Given the description of an element on the screen output the (x, y) to click on. 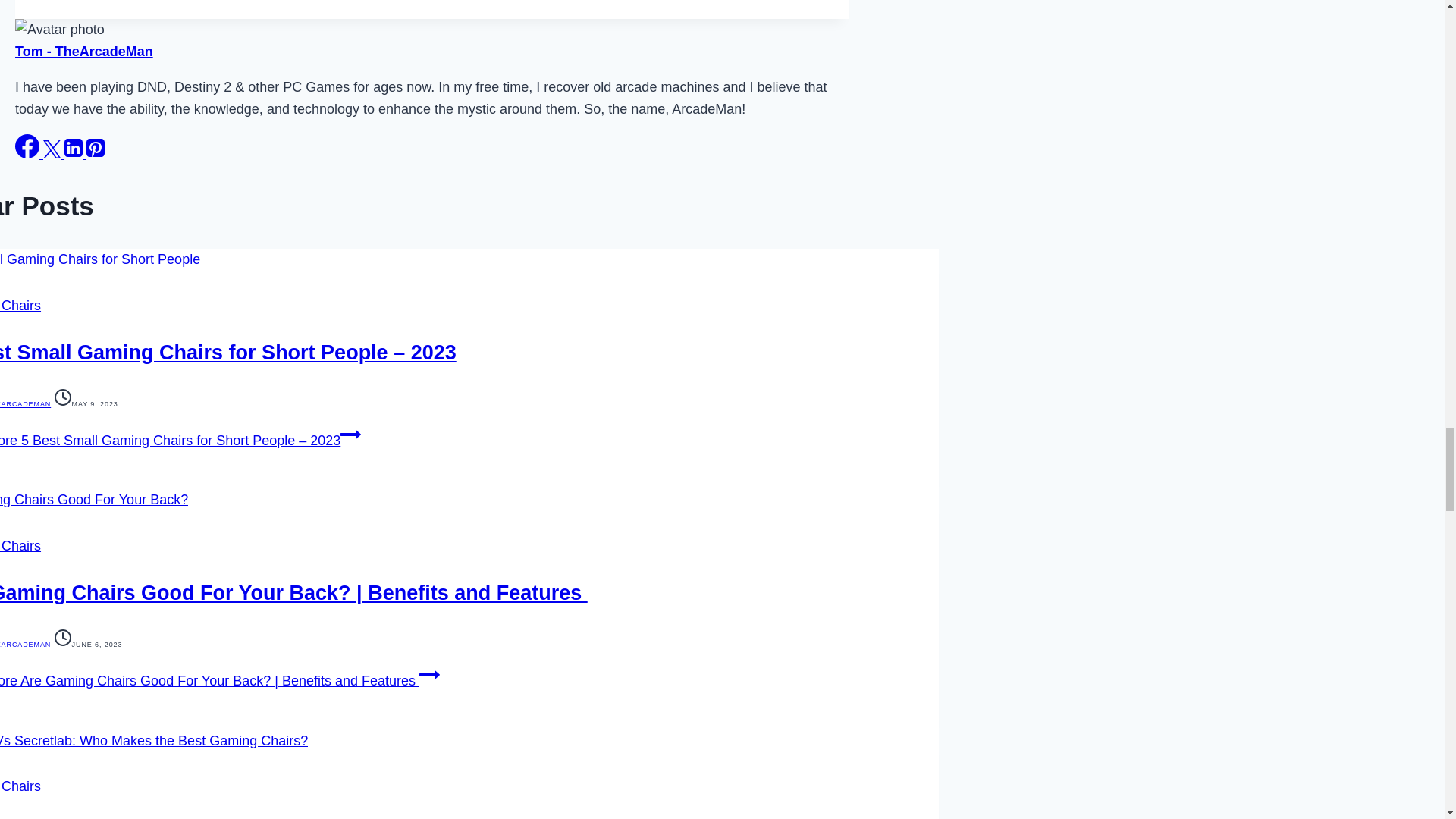
Facebook (26, 146)
Follow Tom - TheArcadeMan on X formerly Twitter (53, 153)
HOURS (62, 637)
Follow Tom - TheArcadeMan on Facebook (28, 153)
X (52, 149)
HOURS (62, 397)
Follow Tom - TheArcadeMan on Pinterest (94, 153)
Follow Tom - TheArcadeMan on Linkedin (74, 153)
Continue (350, 433)
Continue (429, 674)
